Given the description of an element on the screen output the (x, y) to click on. 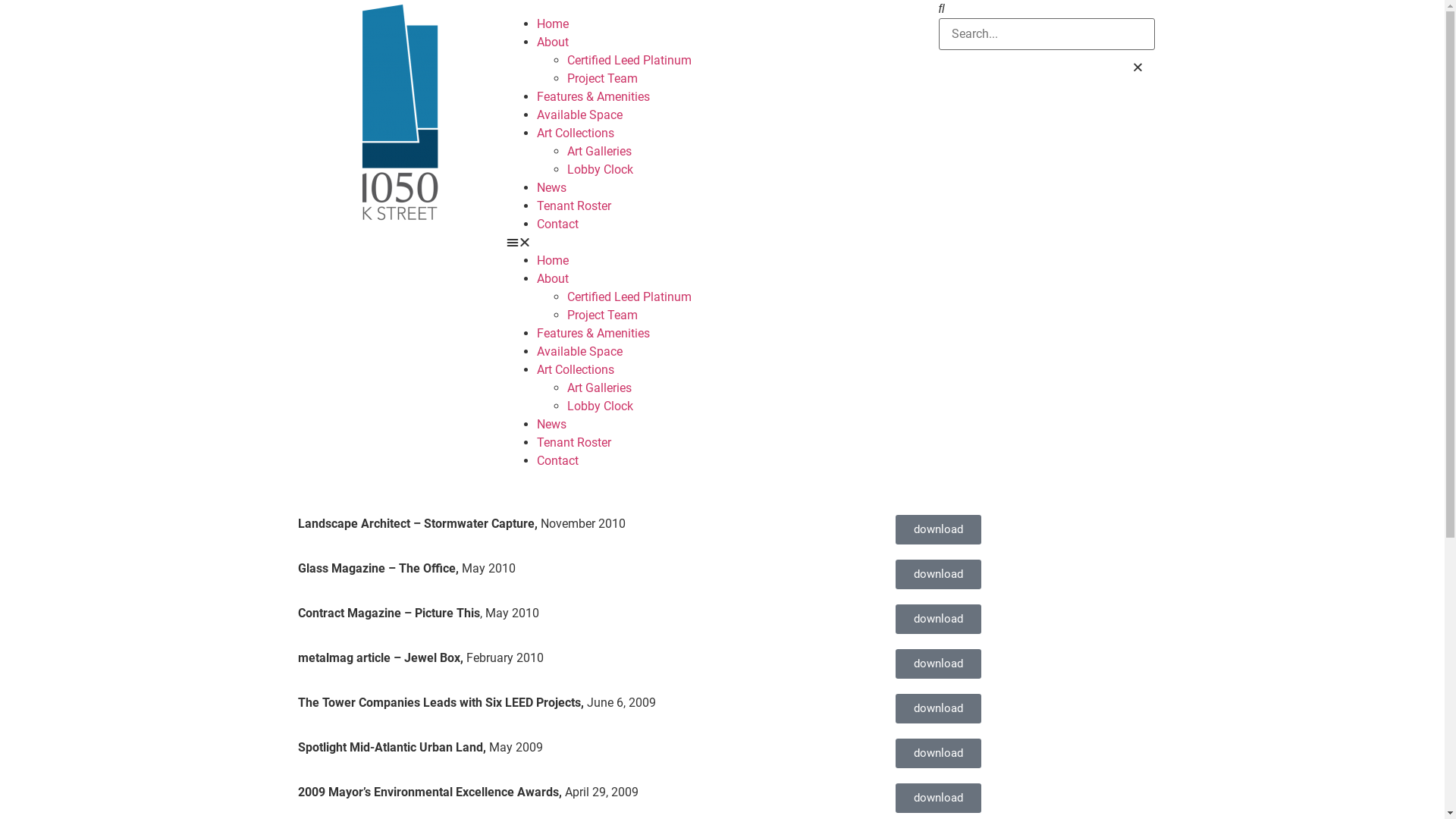
Tenant Roster Element type: text (573, 205)
download Element type: text (938, 797)
Certified Leed Platinum Element type: text (629, 296)
download Element type: text (938, 618)
News Element type: text (551, 187)
Lobby Clock Element type: text (600, 405)
Available Space Element type: text (579, 351)
download Element type: text (938, 529)
download Element type: text (938, 753)
Certified Leed Platinum Element type: text (629, 60)
Project Team Element type: text (602, 314)
Features & Amenities Element type: text (592, 96)
Home Element type: text (552, 23)
Lobby Clock Element type: text (600, 169)
Contact Element type: text (557, 223)
News Element type: text (551, 424)
Art Collections Element type: text (575, 132)
download Element type: text (938, 708)
Available Space Element type: text (579, 114)
Contact Element type: text (557, 460)
Home Element type: text (552, 260)
Tenant Roster Element type: text (573, 442)
download Element type: text (938, 663)
About Element type: text (552, 41)
Project Team Element type: text (602, 78)
Art Collections Element type: text (575, 369)
Features & Amenities Element type: text (592, 333)
Art Galleries Element type: text (599, 151)
Art Galleries Element type: text (599, 387)
download Element type: text (938, 574)
About Element type: text (552, 278)
